Given the description of an element on the screen output the (x, y) to click on. 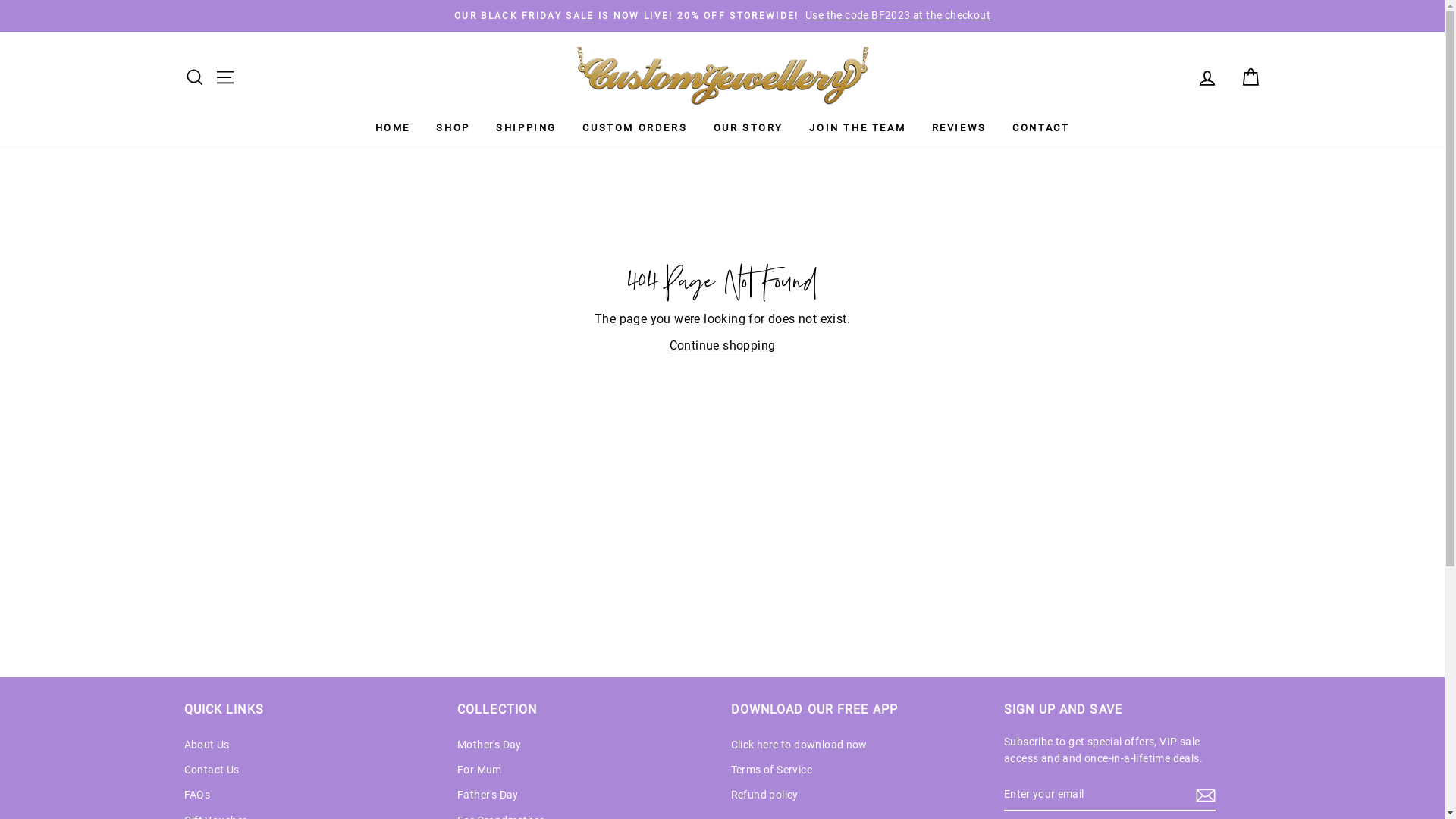
SHIPPING Element type: text (525, 128)
Refund policy Element type: text (764, 795)
REVIEWS Element type: text (958, 128)
CUSTOM ORDERS Element type: text (634, 128)
CART Element type: text (1249, 76)
Click here to download now Element type: text (799, 745)
CONTACT Element type: text (1040, 128)
OUR STORY Element type: text (748, 128)
LOG IN Element type: text (1206, 76)
JOIN THE TEAM Element type: text (856, 128)
SHOP Element type: text (452, 128)
Skip to content Element type: text (0, 0)
For Mum Element type: text (479, 770)
Terms of Service Element type: text (771, 770)
About Us Element type: text (206, 745)
Mother's Day Element type: text (489, 745)
Father's Day Element type: text (487, 795)
HOME Element type: text (392, 128)
Continue shopping Element type: text (722, 345)
FAQs Element type: text (196, 795)
SITE NAVIGATION Element type: text (224, 76)
Contact Us Element type: text (210, 770)
SEARCH Element type: text (193, 76)
